Given the description of an element on the screen output the (x, y) to click on. 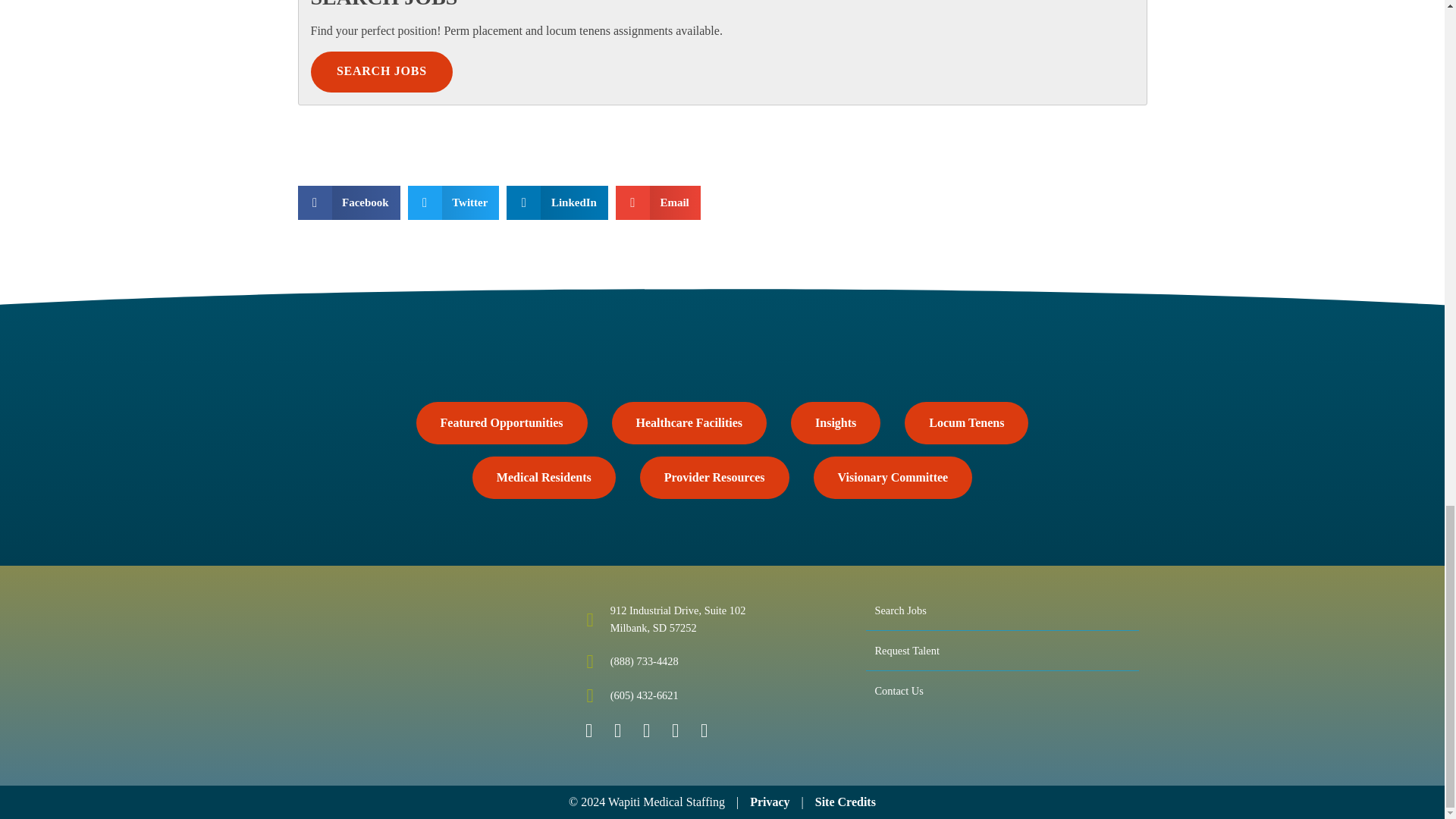
Follow Wapiti Medical Staffing on Instagram (703, 731)
Subscribe to Wapiti Medical Staffing on YouTube (674, 731)
Follow Wapiti Medical Staffing on Facebook (588, 731)
Connect with Wapiti Medical Staffing on LinkedIn (645, 731)
Follow Wapiti Medical Staffing on Twitter (617, 731)
